Given the description of an element on the screen output the (x, y) to click on. 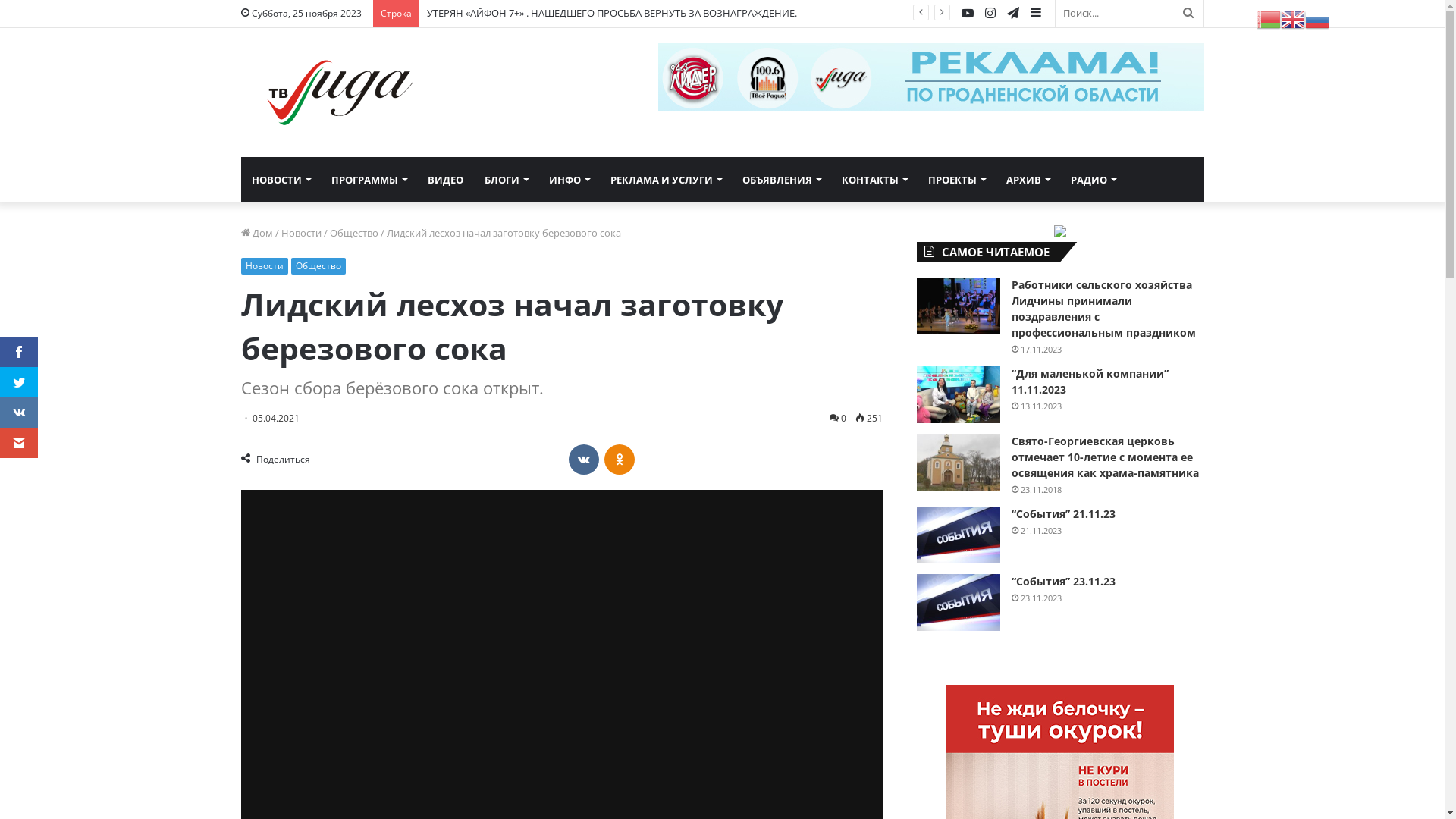
VKontakte Element type: text (583, 459)
English Element type: hover (1292, 18)
Instagram Element type: text (989, 13)
Sidebar Element type: text (1034, 13)
YouTube Element type: text (966, 13)
Telegram Element type: text (1012, 13)
Odnoklassniki Element type: text (619, 459)
